Given the description of an element on the screen output the (x, y) to click on. 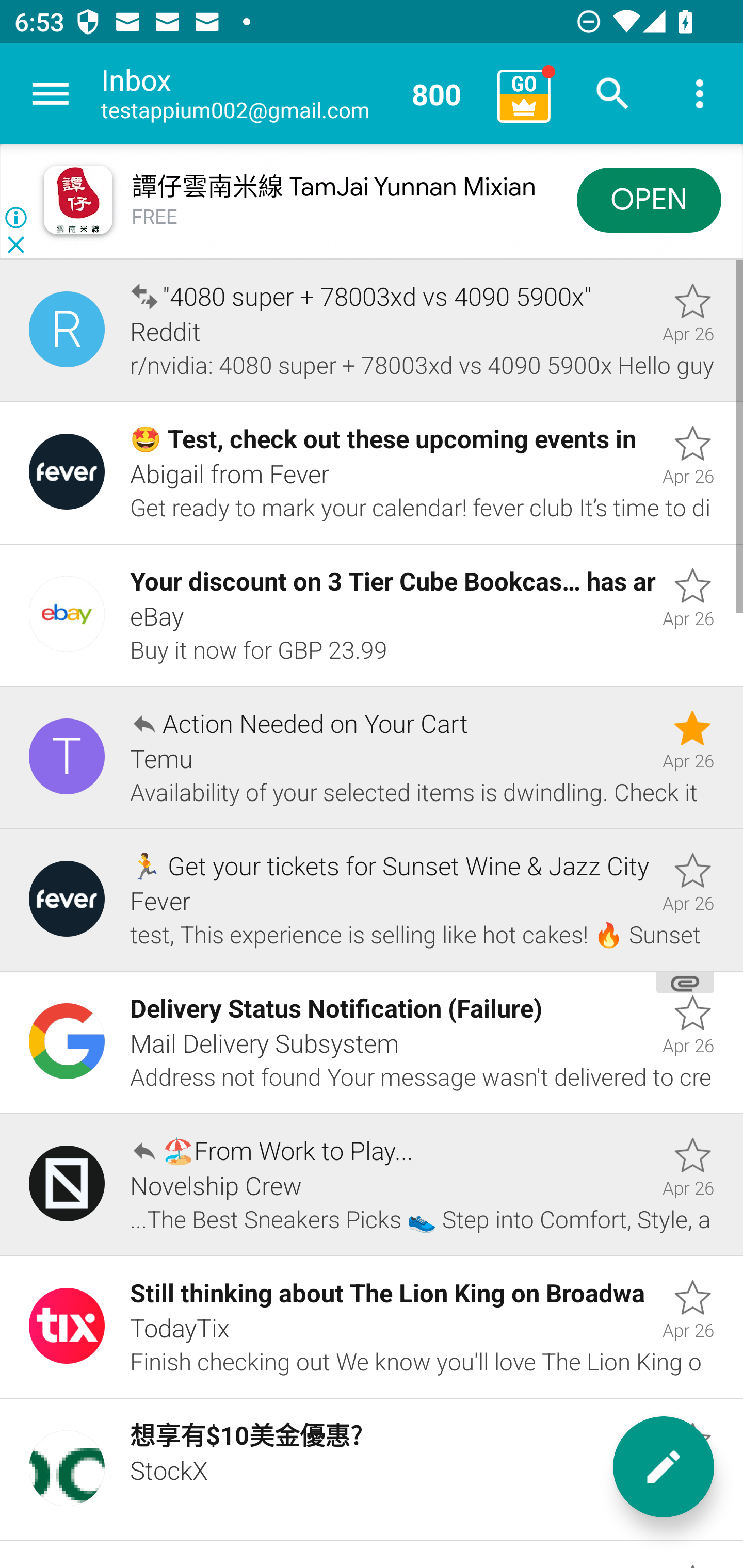
Navigate up (50, 93)
Inbox testappium002@gmail.com 800 (291, 93)
Search (612, 93)
More options (699, 93)
OPEN (648, 199)
譚仔雲南米線 TamJai Yunnan Mixian (333, 186)
FREE (154, 216)
Unread, 想享有$10美金優惠?, StockX, Apr 26 (371, 1469)
New message (663, 1466)
